Given the description of an element on the screen output the (x, y) to click on. 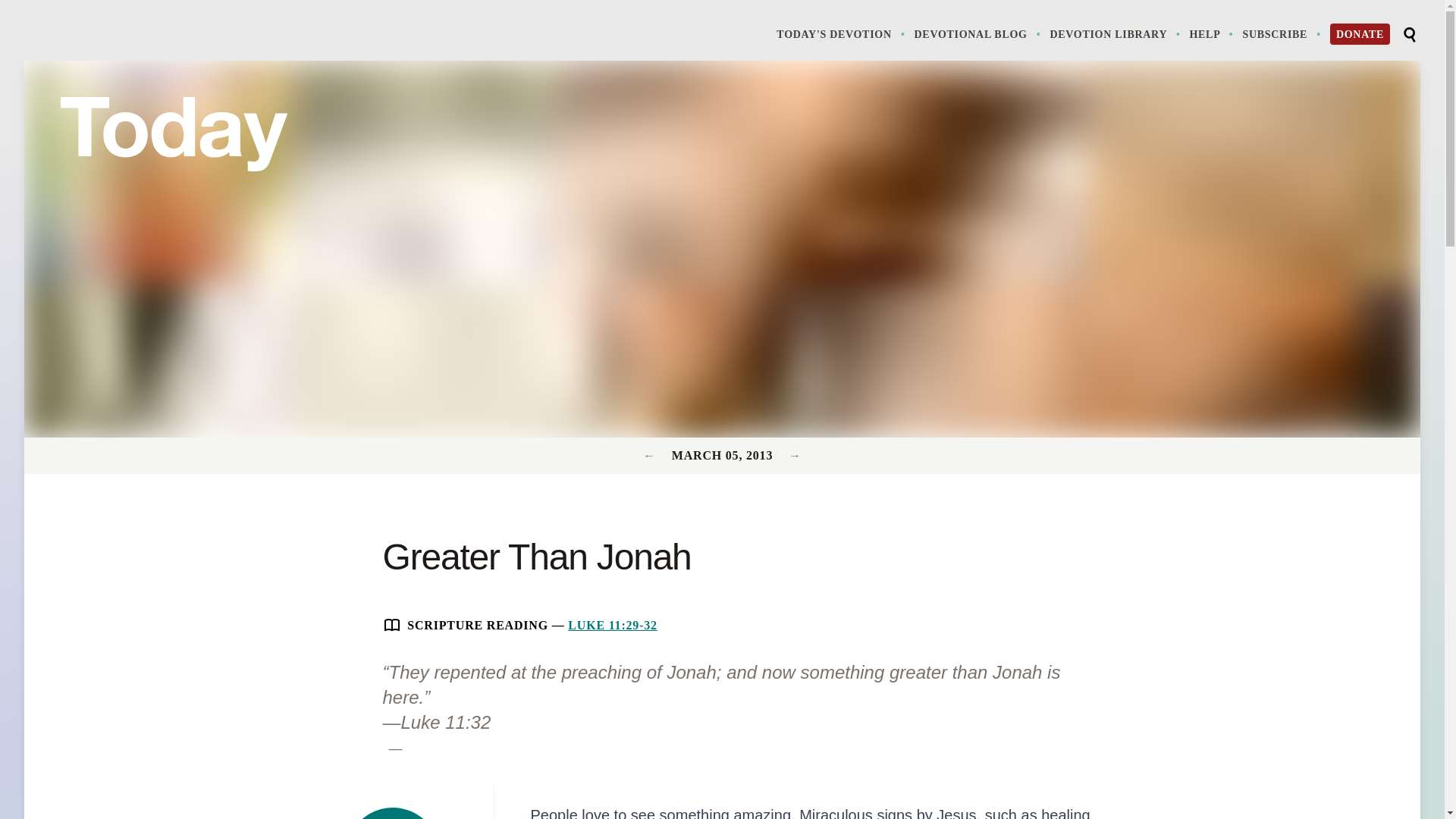
DEVOTIONAL BLOG (978, 34)
LUKE 11:29-32 (612, 625)
Previous Devotion: March 06, 2013 (795, 454)
DONATE (1360, 34)
Search (1409, 34)
SUBSCRIBE (1282, 34)
TODAY'S DEVOTION (841, 34)
DEVOTION LIBRARY (392, 813)
Previous Devotion: March 04, 2013 (1115, 34)
HELP (651, 454)
